Given the description of an element on the screen output the (x, y) to click on. 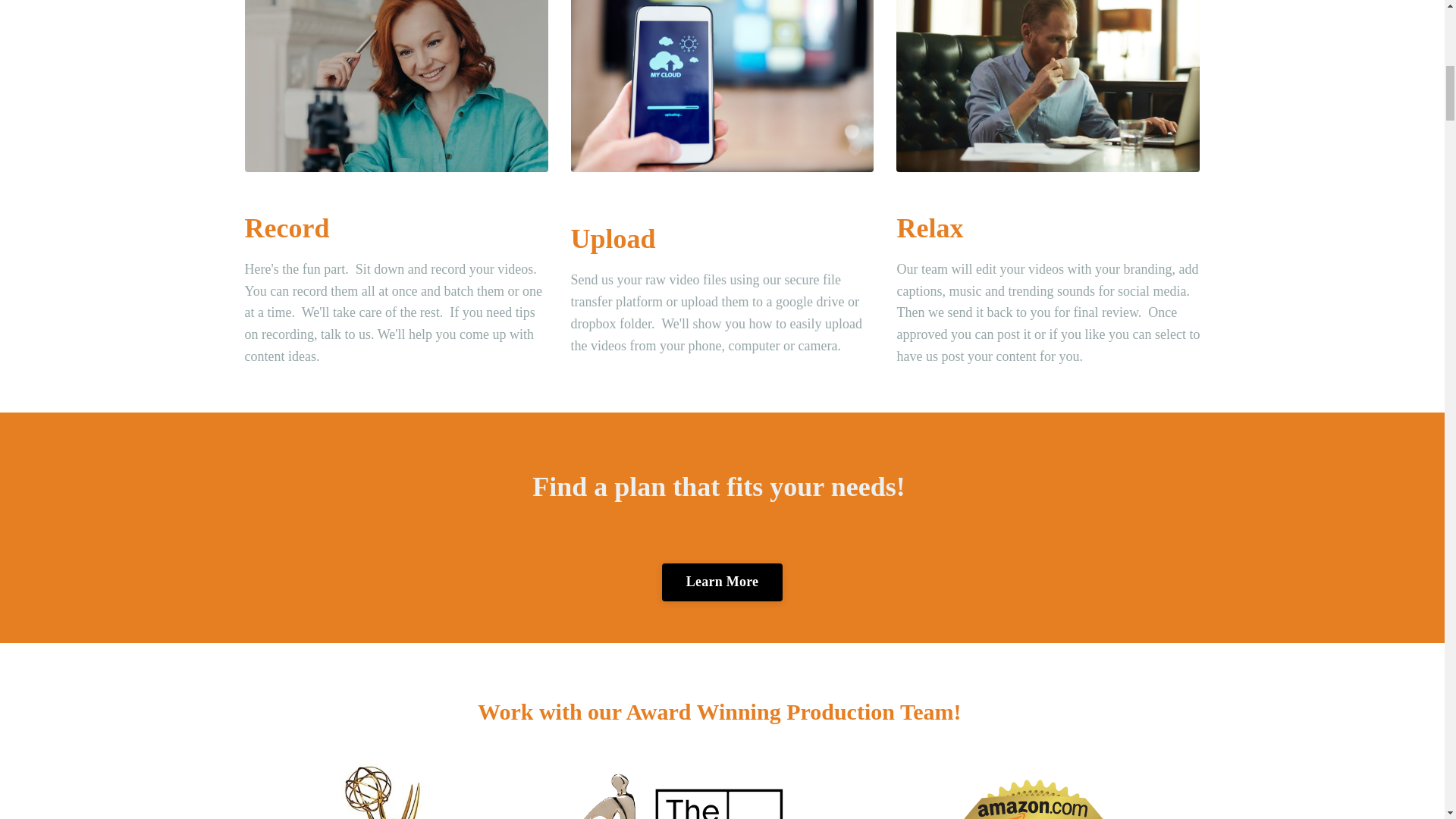
Learn More (722, 582)
